Given the description of an element on the screen output the (x, y) to click on. 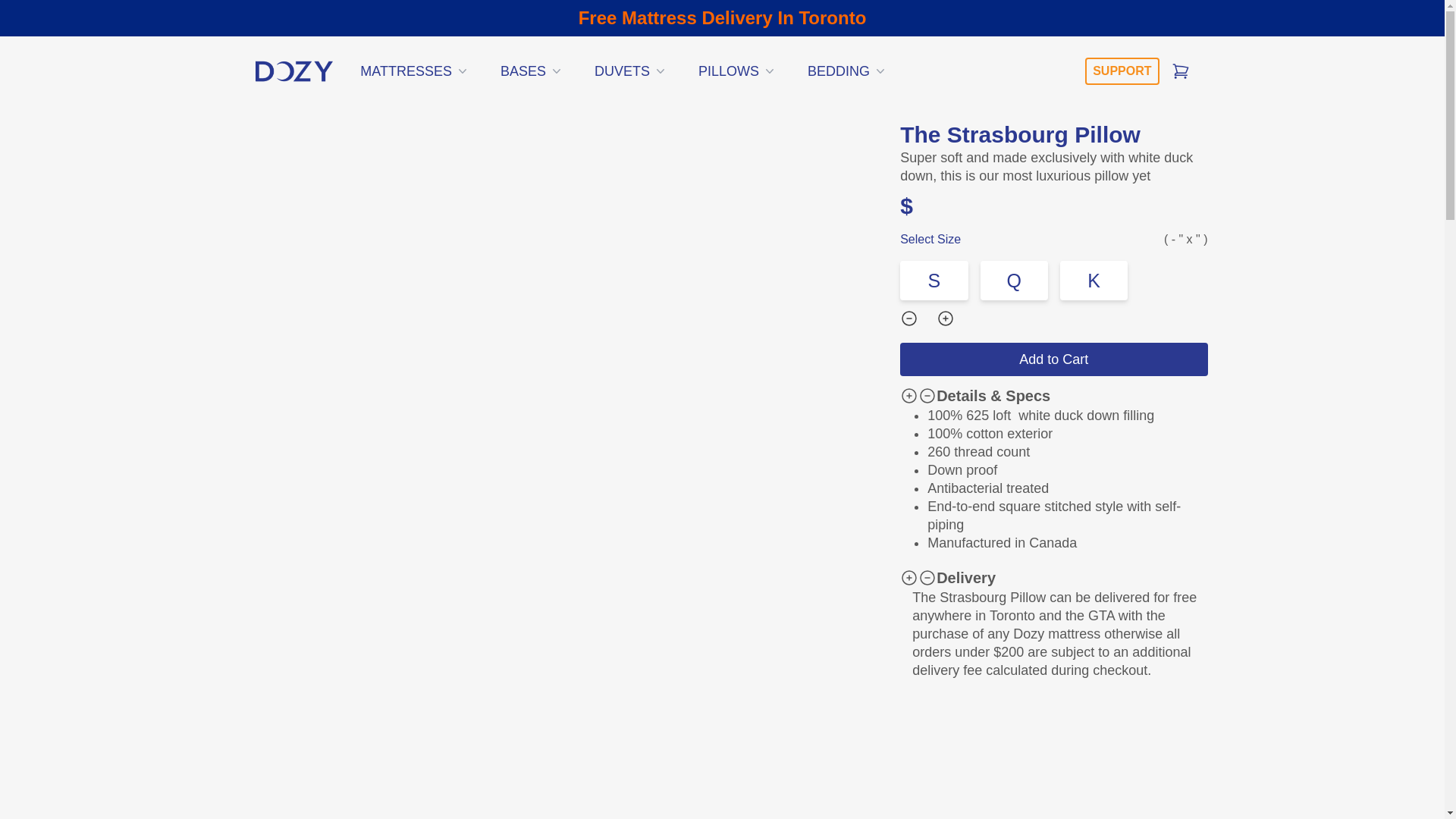
SUPPORT (1121, 71)
BEDDING (846, 70)
My Basket (1179, 71)
Dozy Sleep (293, 71)
MATTRESSES (414, 70)
BASES (531, 70)
DUVETS (630, 70)
PILLOWS (737, 70)
